Given the description of an element on the screen output the (x, y) to click on. 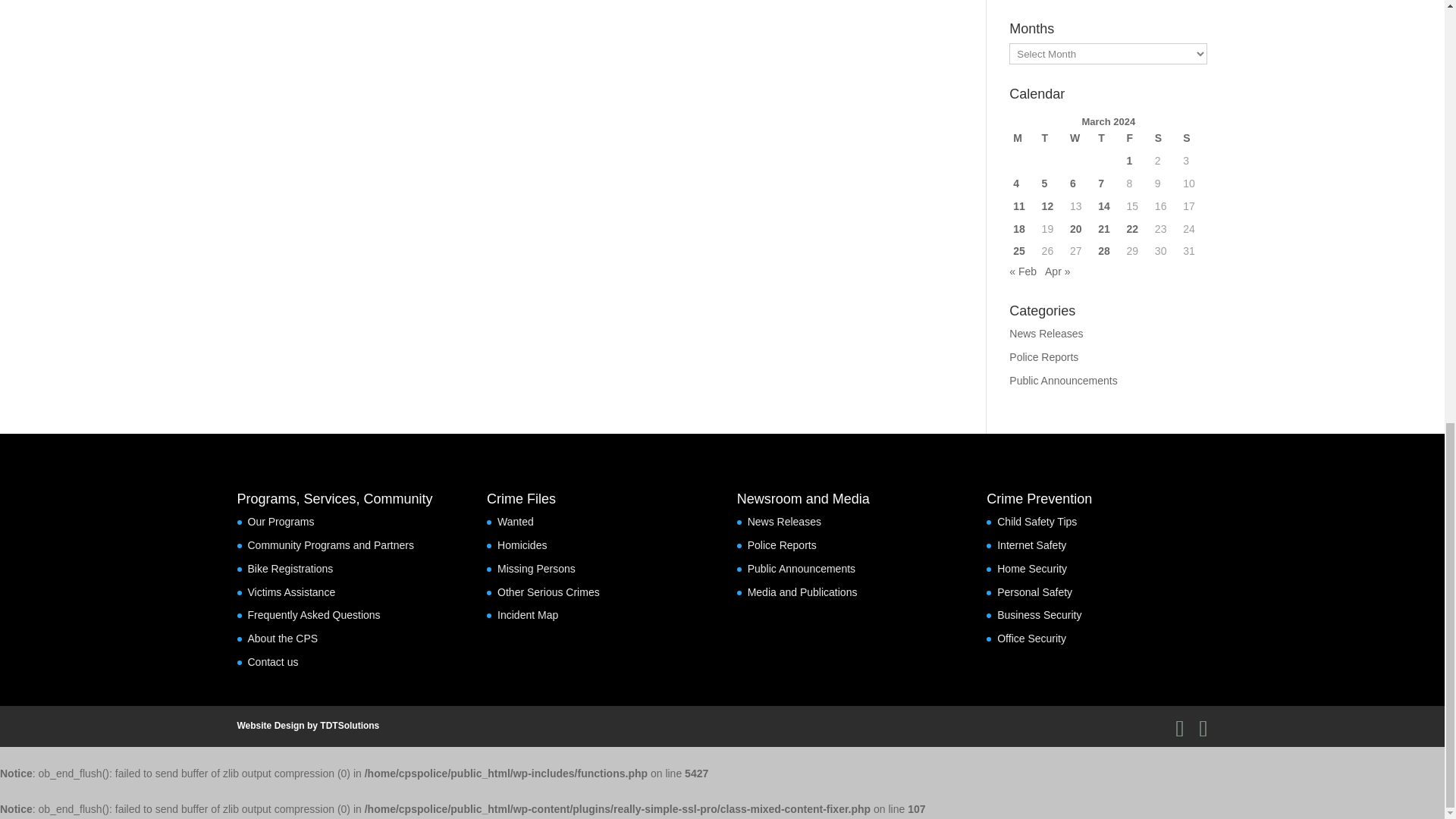
Saturday (1165, 138)
Tuesday (1051, 138)
Friday (1136, 138)
Thursday (1108, 138)
Sunday (1193, 138)
Wednesday (1079, 138)
Monday (1022, 138)
